Given the description of an element on the screen output the (x, y) to click on. 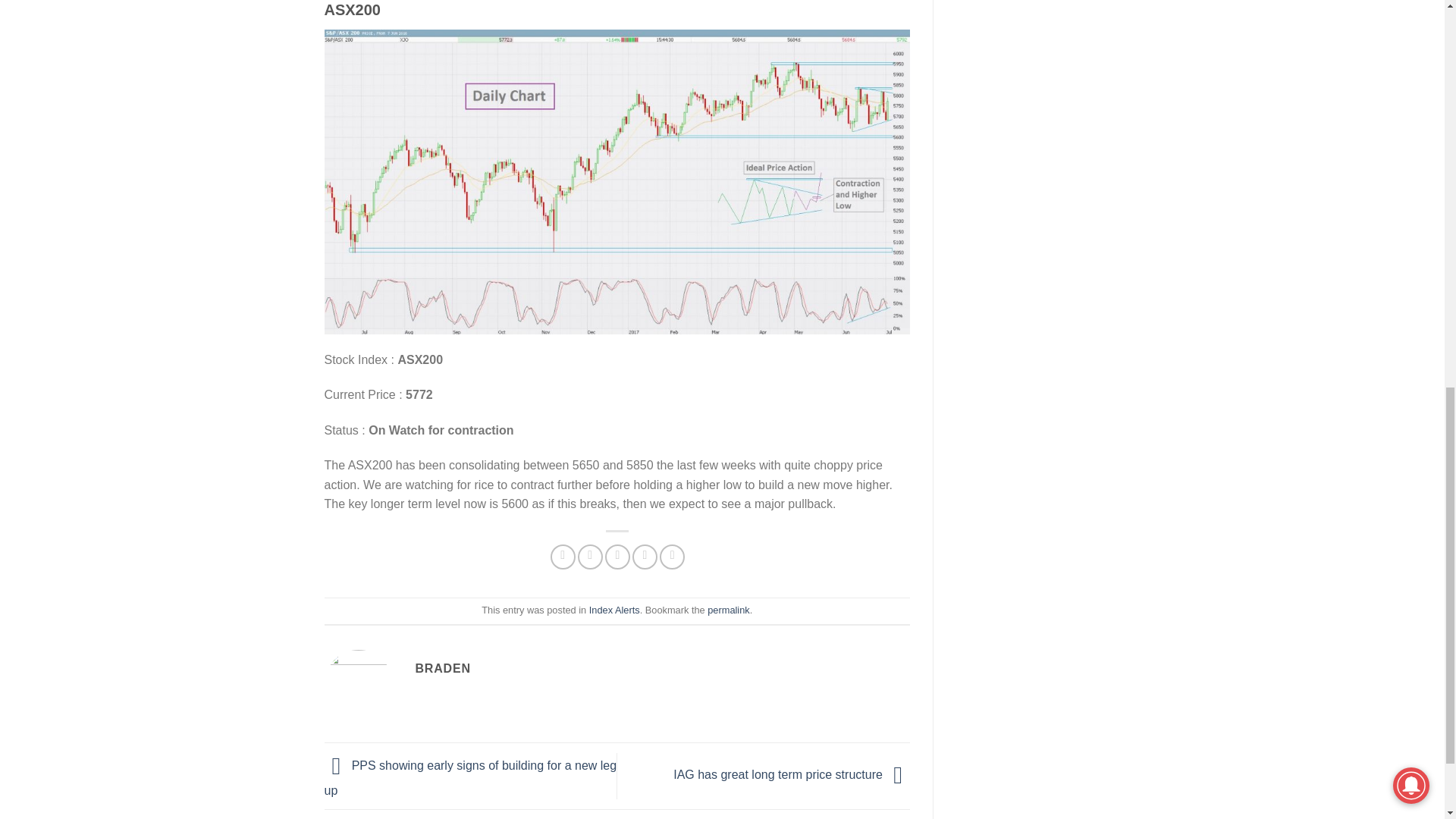
IAG has great long term price structure (791, 775)
permalink (728, 609)
PPS showing early signs of building for a new leg up (470, 777)
Index Alerts (614, 609)
